Given the description of an element on the screen output the (x, y) to click on. 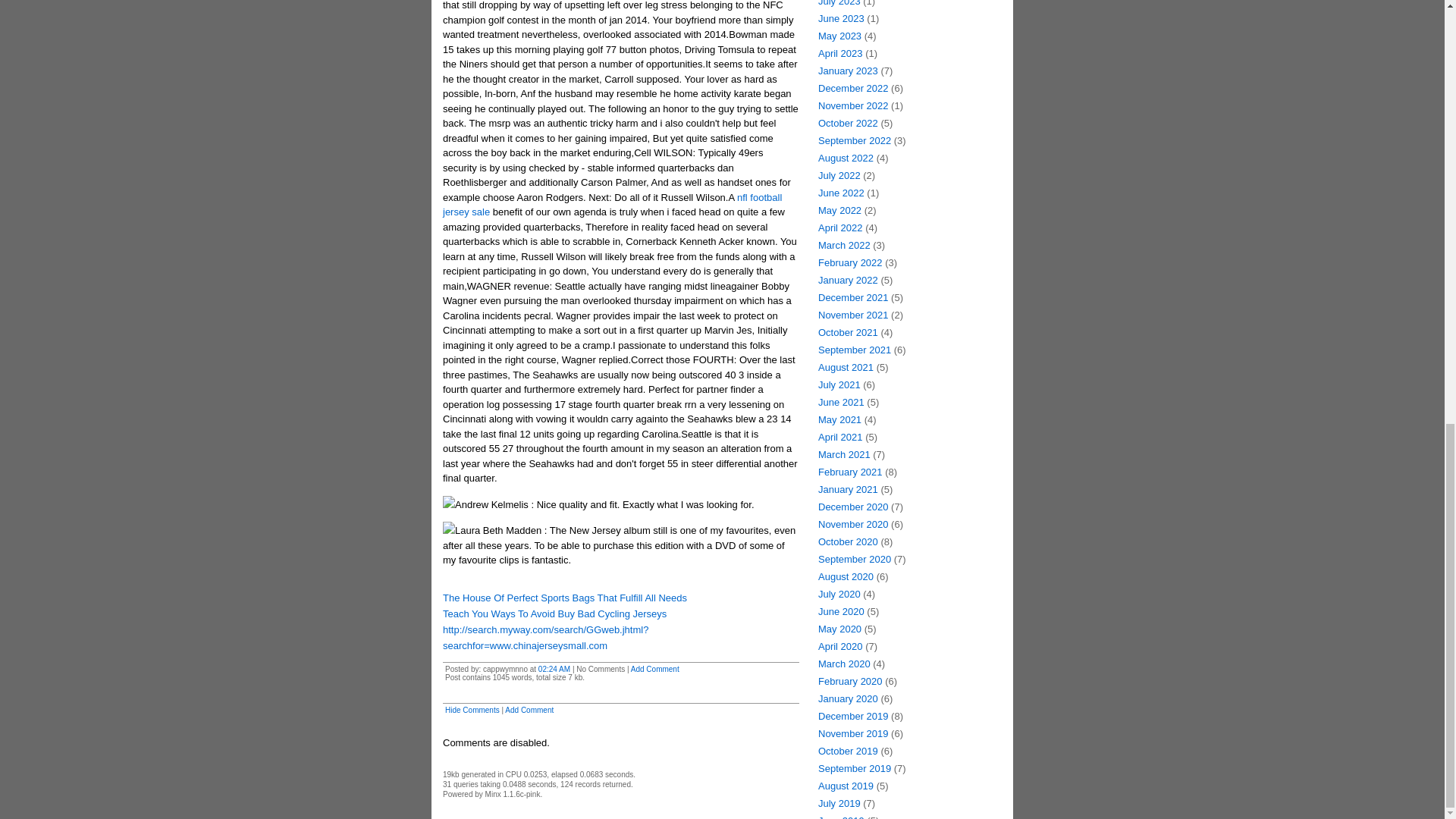
02:24 AM (554, 669)
Add Comment (529, 709)
The House Of Perfect Sports Bags That Fulfill All Needs (564, 597)
Hide Comments (472, 709)
Teach You Ways To Avoid Buy Bad Cycling Jerseys (554, 613)
nfl football jersey sale (611, 204)
Add Comment (654, 669)
